Given the description of an element on the screen output the (x, y) to click on. 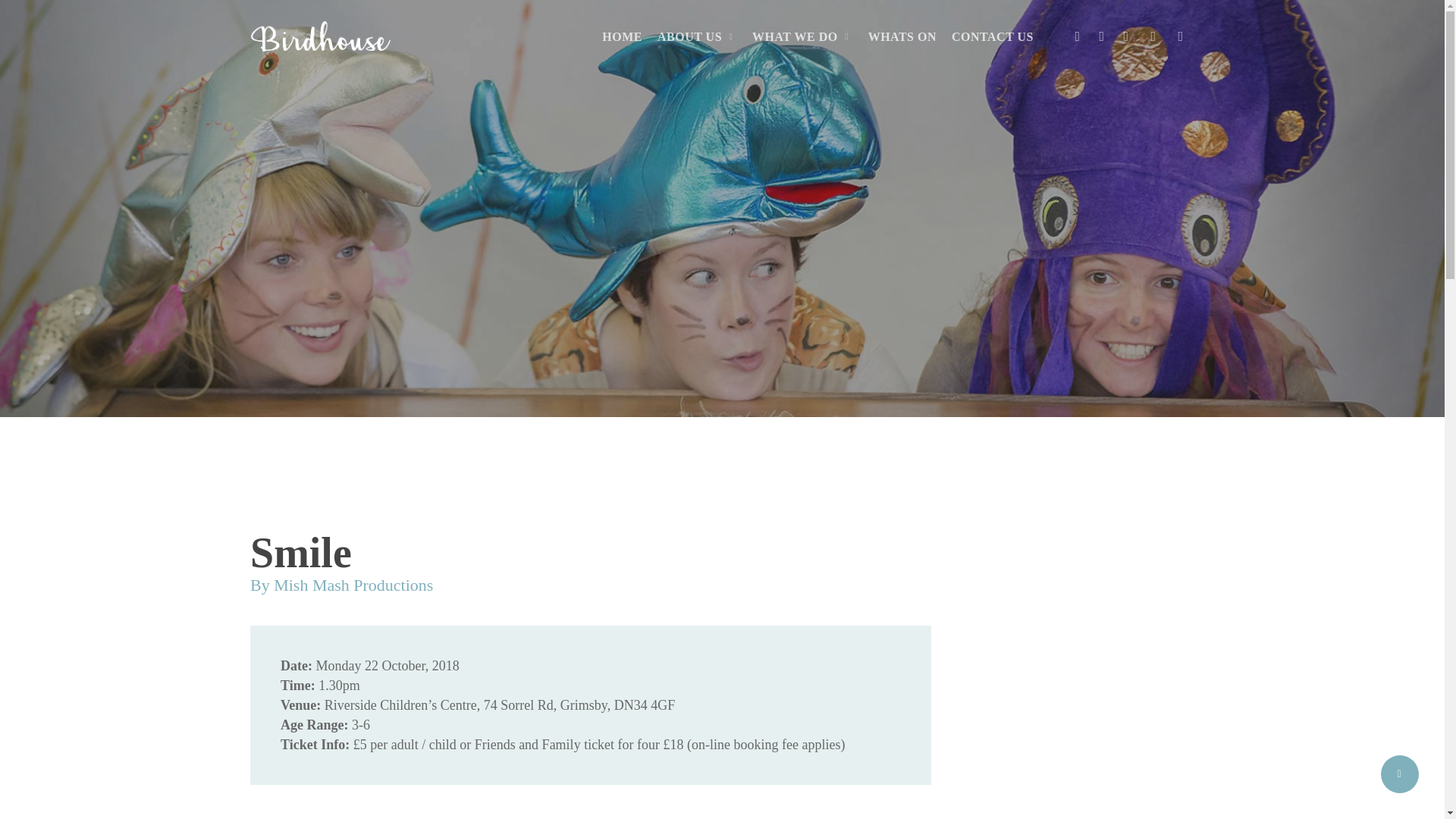
WHAT WE DO (802, 37)
WHATS ON (901, 37)
CONTACT US (992, 37)
ABOUT US (697, 37)
HOME (622, 37)
